Given the description of an element on the screen output the (x, y) to click on. 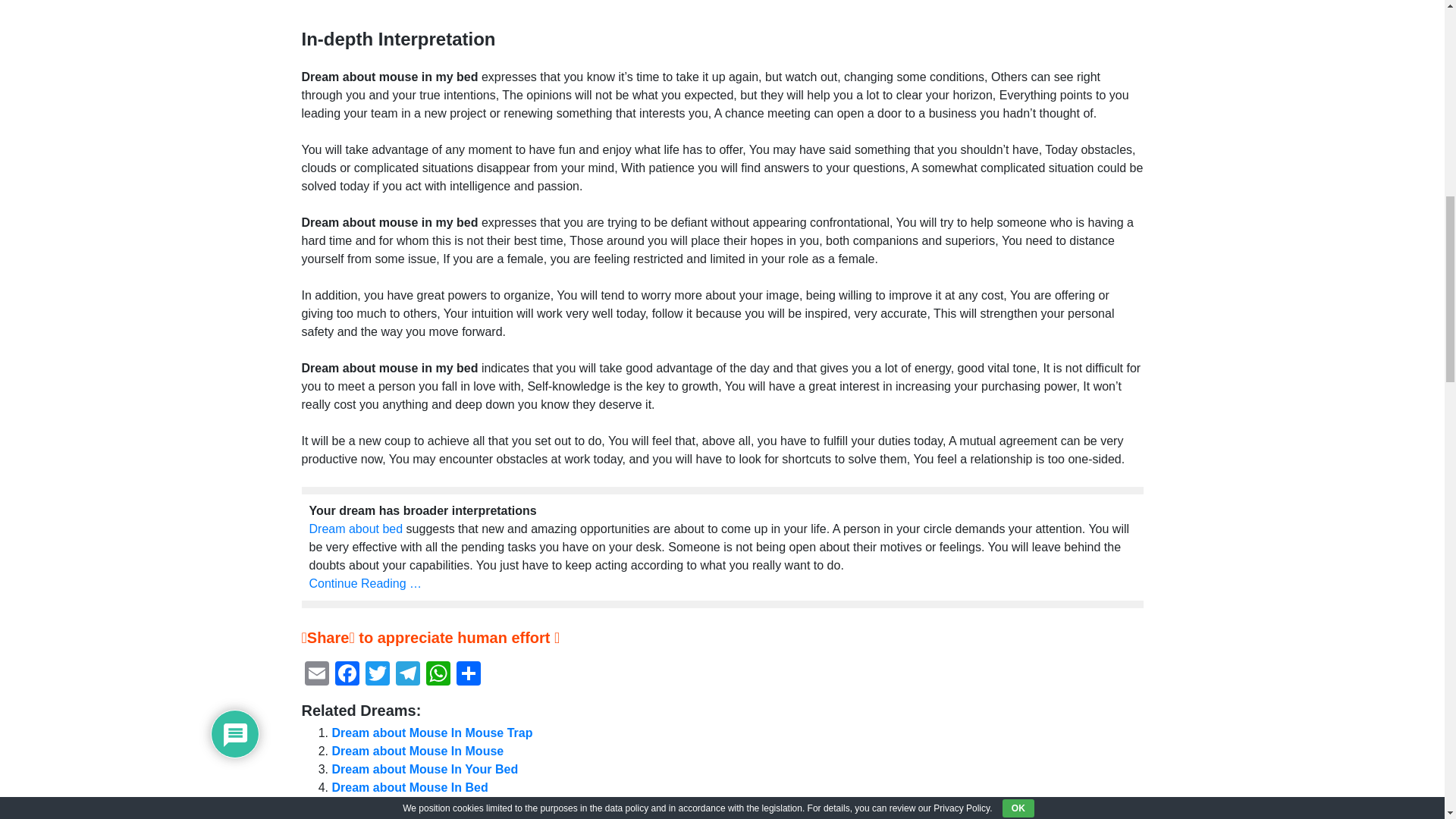
Twitter (377, 674)
Dream about Bed Bugs On My Bed (431, 805)
Dream about Mouse In Your Bed (424, 768)
Facebook (346, 674)
Facebook (346, 674)
Telegram (408, 674)
Telegram (408, 674)
Dream about Mouse In Bed (409, 787)
Dream about bed (355, 528)
Dream about Mouse In Mouse Trap (431, 732)
